Given the description of an element on the screen output the (x, y) to click on. 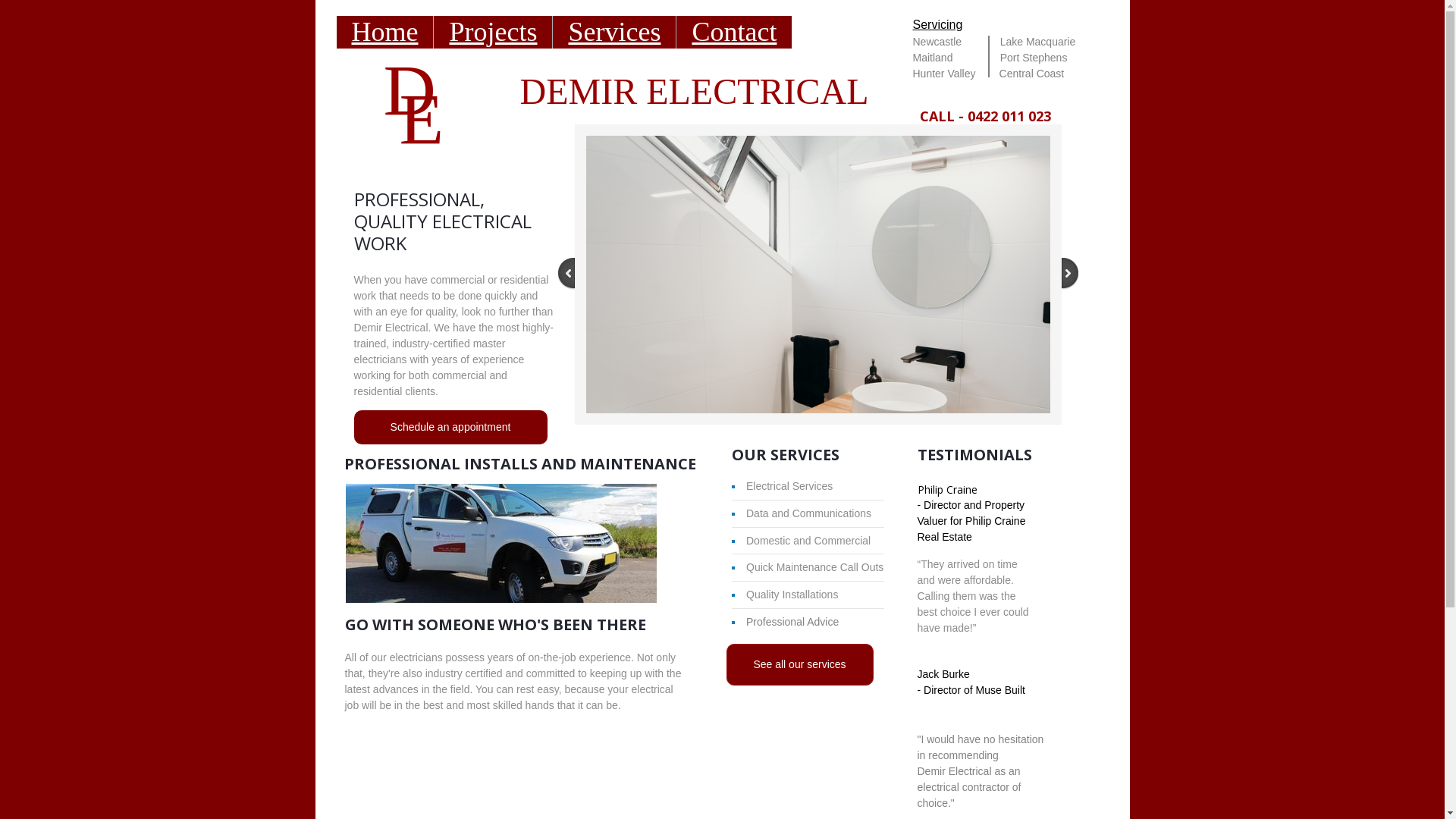
Contact Element type: text (733, 31)
Schedule an appointment Element type: text (449, 427)
Projects Element type: text (492, 31)
Home Element type: text (384, 31)
See all our services Element type: text (799, 664)
Services Element type: text (613, 31)
